Given the description of an element on the screen output the (x, y) to click on. 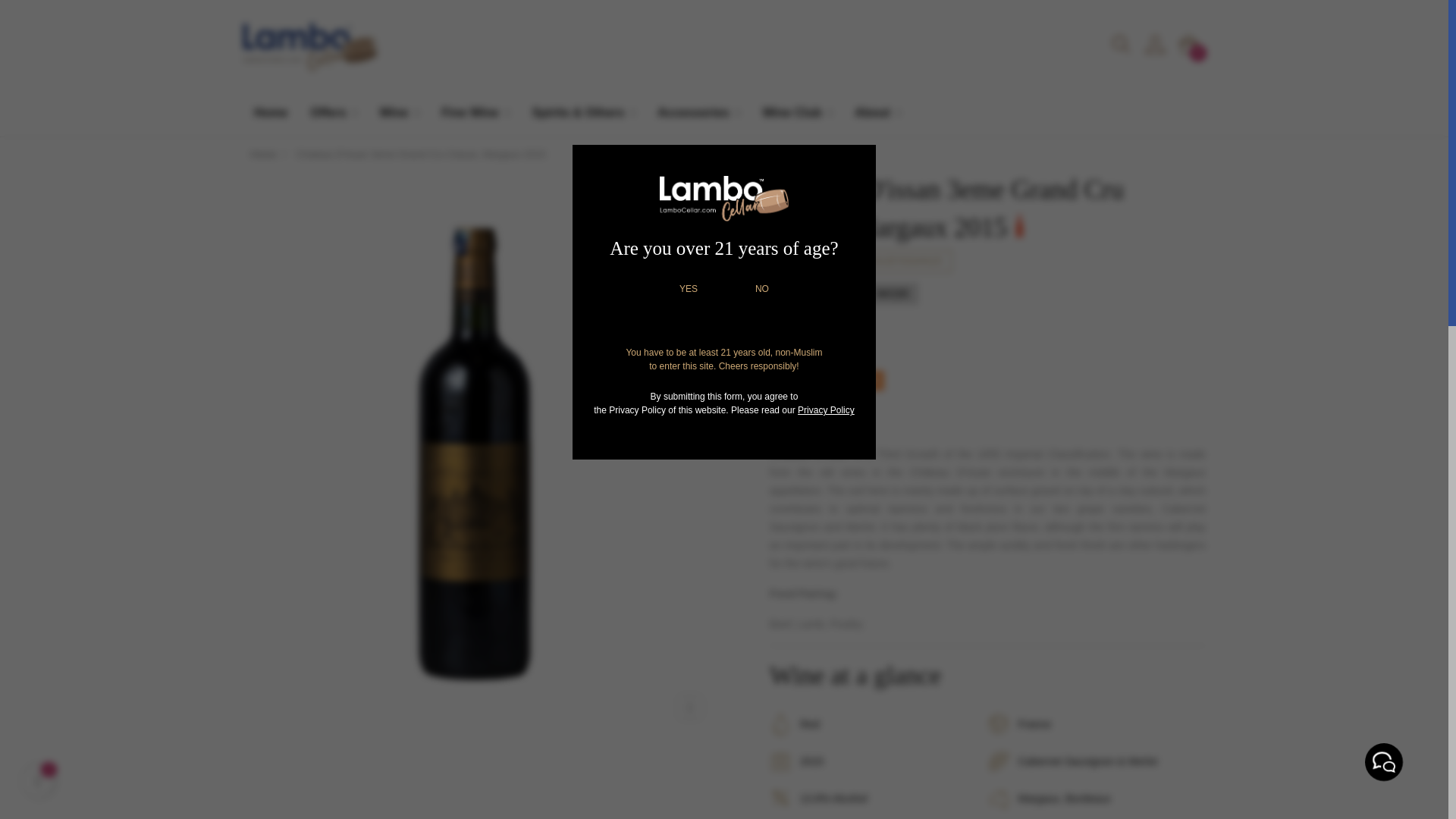
Wine (398, 113)
Home (270, 112)
Offers (333, 113)
